Given the description of an element on the screen output the (x, y) to click on. 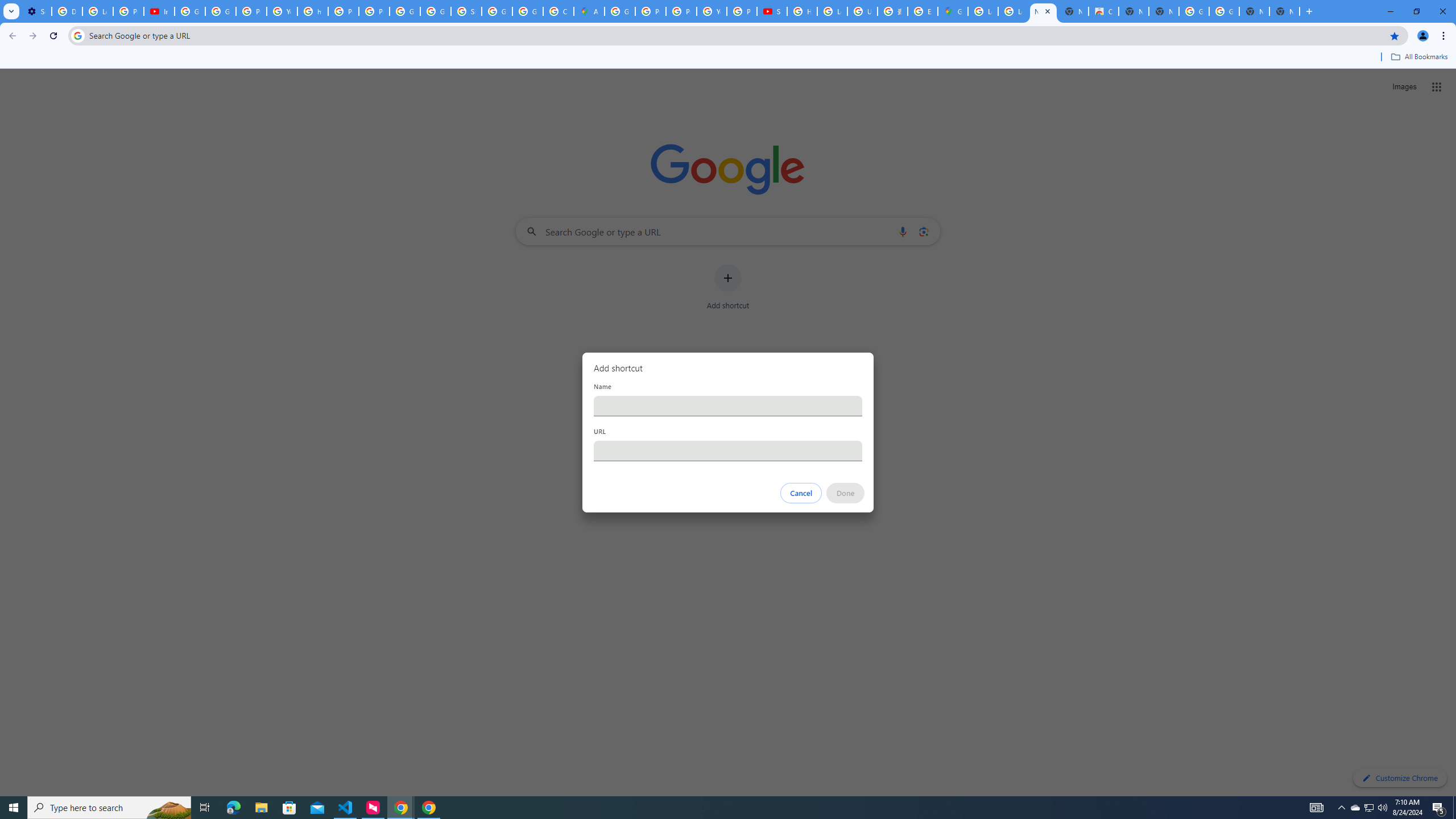
Google Maps (952, 11)
Privacy Help Center - Policies Help (681, 11)
Create your Google Account (558, 11)
Google Images (1224, 11)
Delete photos & videos - Computer - Google Photos Help (66, 11)
Introduction | Google Privacy Policy - YouTube (158, 11)
Privacy Help Center - Policies Help (343, 11)
Privacy Help Center - Policies Help (650, 11)
Bookmarks (728, 58)
Google Images (1193, 11)
